Given the description of an element on the screen output the (x, y) to click on. 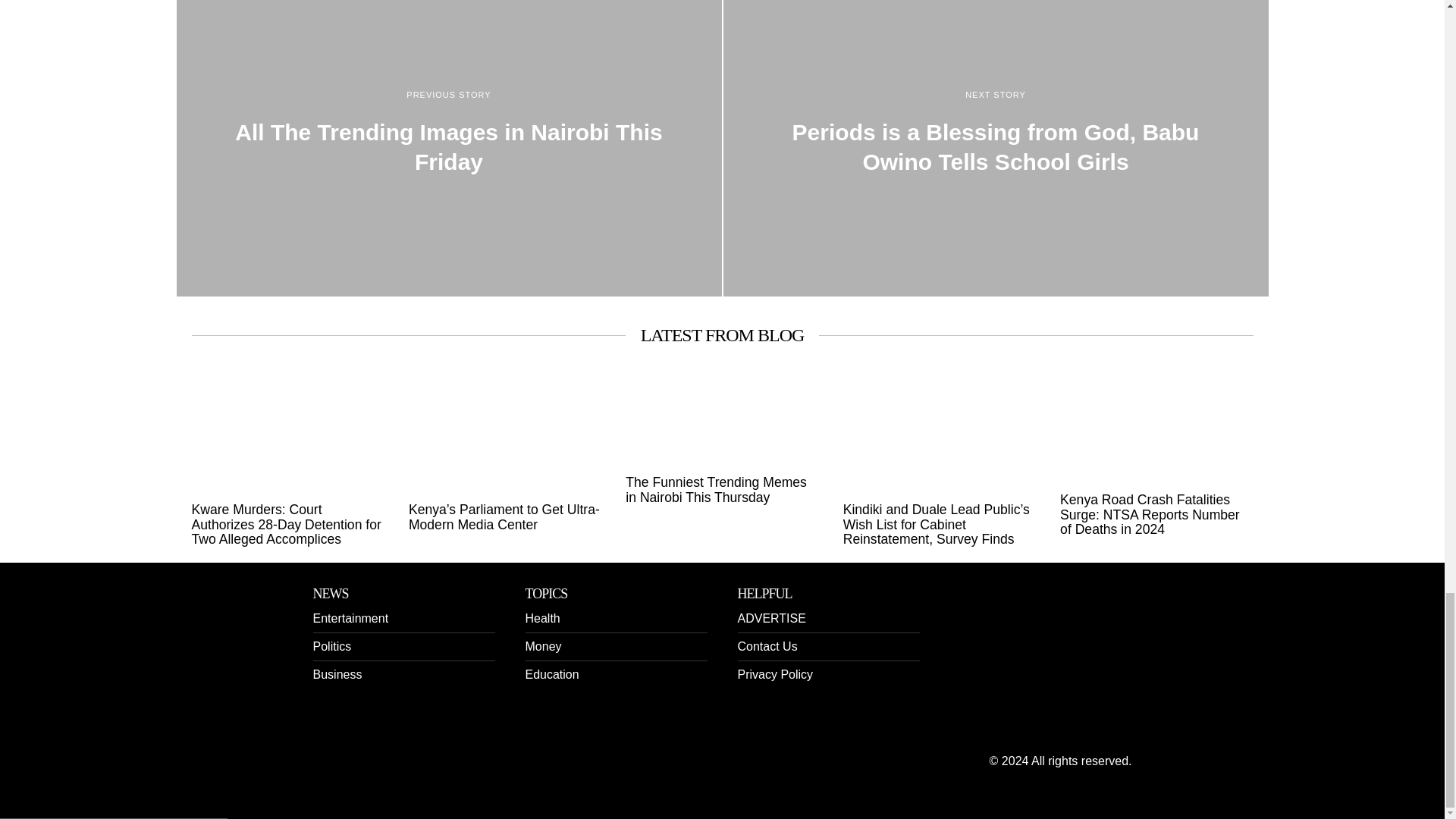
Politics (331, 645)
Entertainment (350, 617)
Health (541, 617)
The Funniest Trending Memes in Nairobi This Thursday (722, 490)
Business (337, 674)
